Given the description of an element on the screen output the (x, y) to click on. 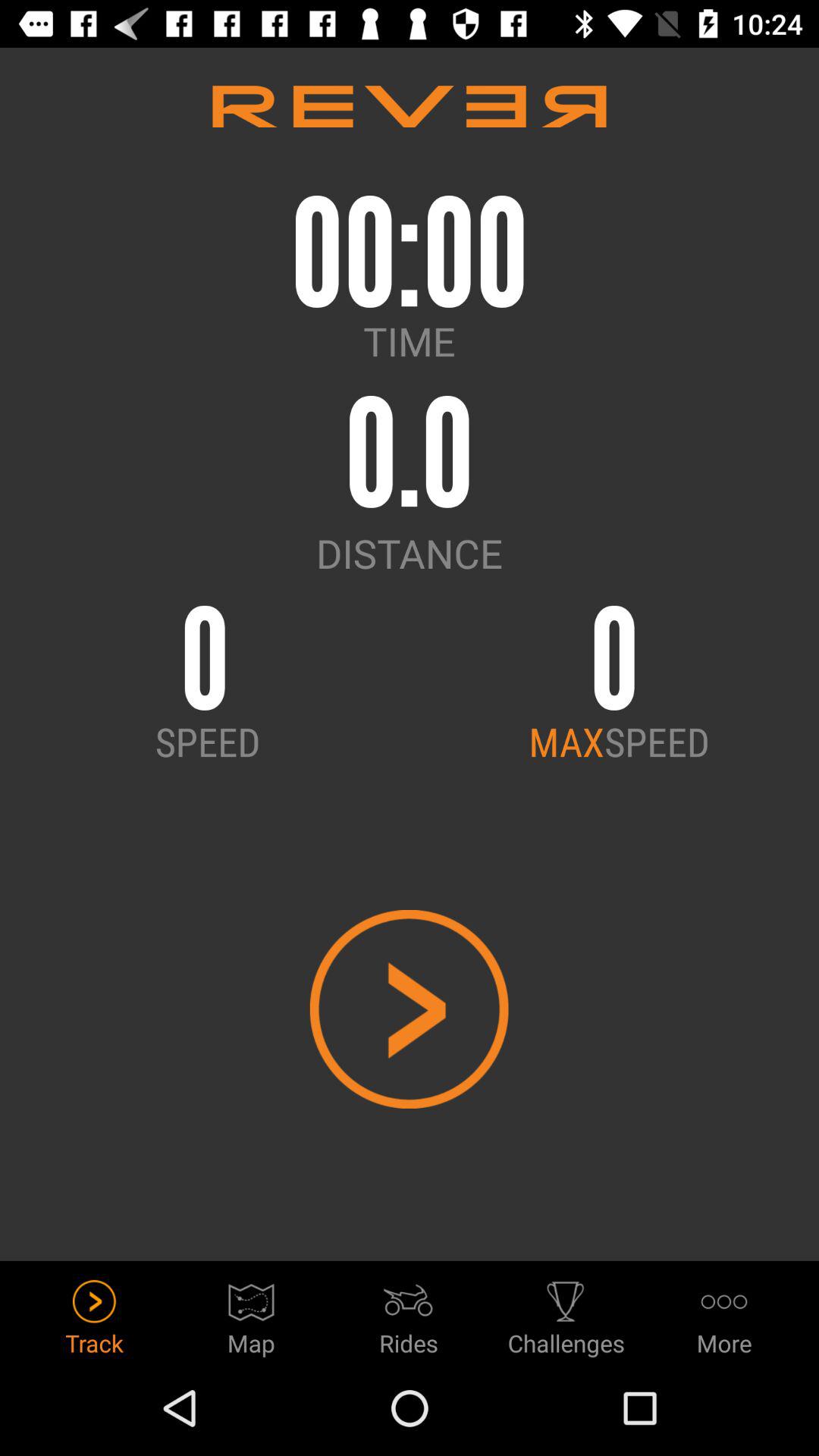
turn off track icon (93, 1313)
